Given the description of an element on the screen output the (x, y) to click on. 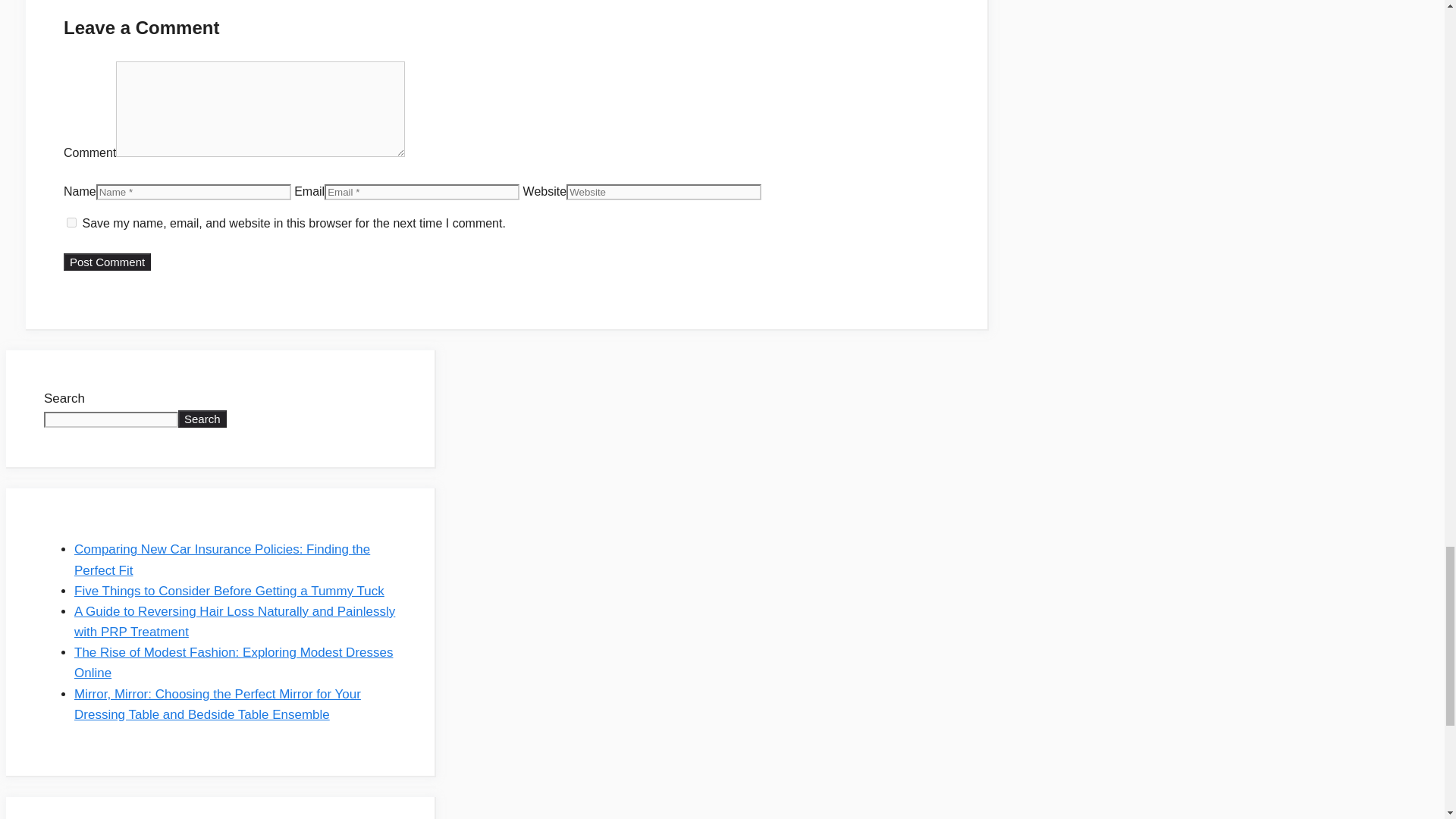
Post Comment (107, 262)
Search (202, 418)
Post Comment (107, 262)
The Rise of Modest Fashion: Exploring Modest Dresses Online (233, 662)
Five Things to Consider Before Getting a Tummy Tuck (229, 590)
yes (71, 222)
